Given the description of an element on the screen output the (x, y) to click on. 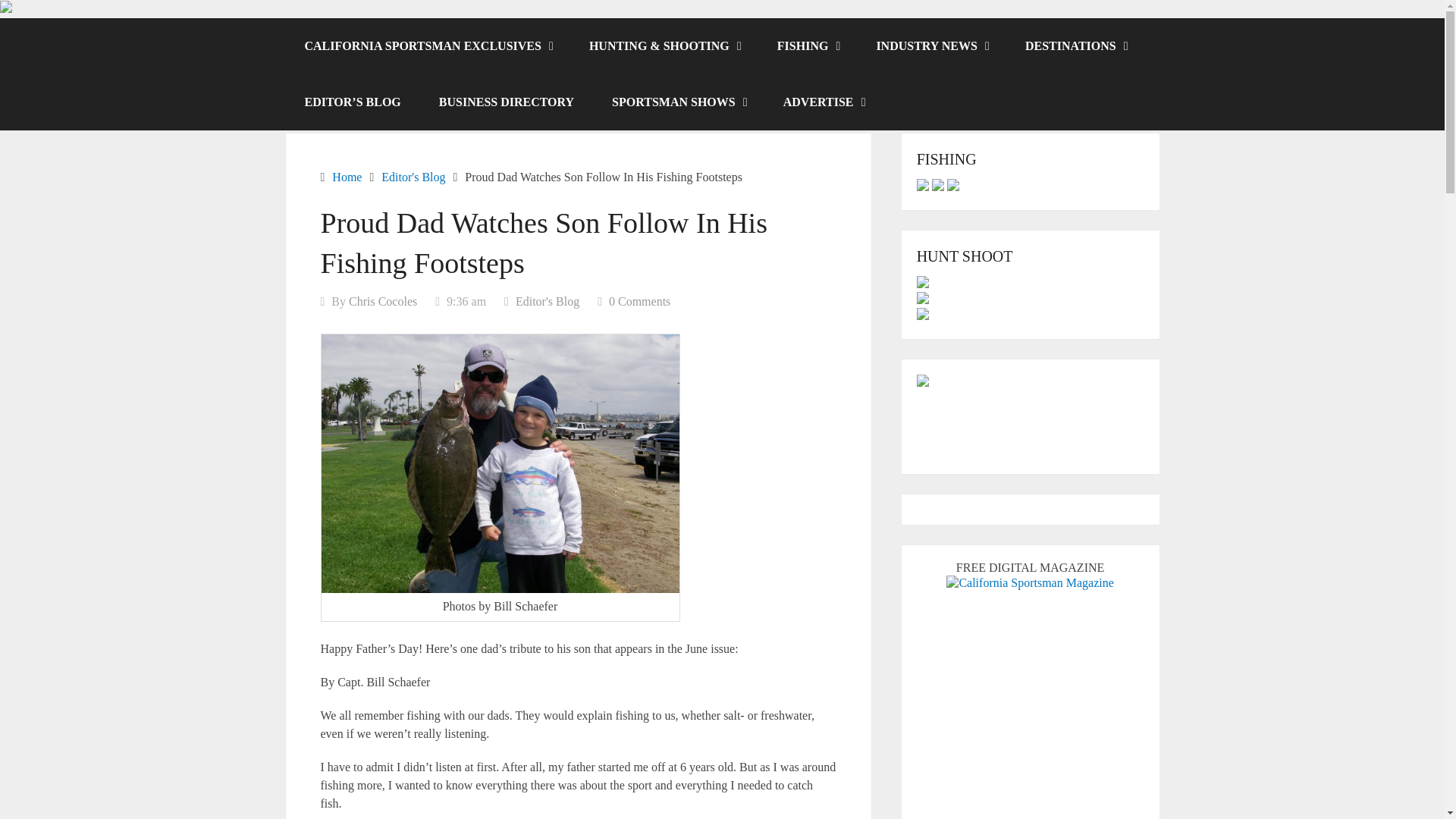
Posts by Chris Cocoles (382, 300)
INDUSTRY NEWS (931, 46)
0 Comments (638, 300)
Chris Cocoles (382, 300)
SPORTSMAN SHOWS (678, 102)
CALIFORNIA SPORTSMAN EXCLUSIVES (427, 46)
DESTINATIONS (1075, 46)
Editor's Blog (413, 176)
FISHING (807, 46)
Editor's Blog (547, 300)
